Given the description of an element on the screen output the (x, y) to click on. 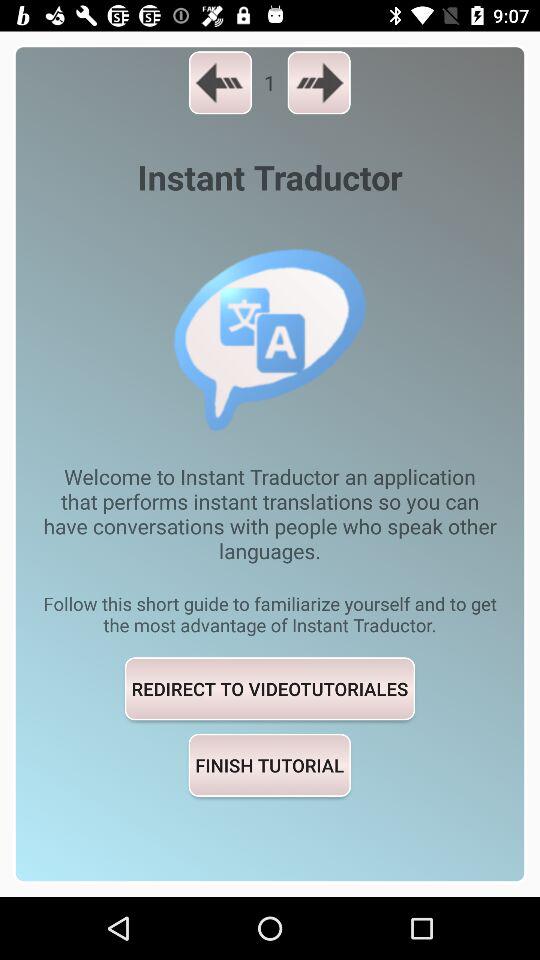
jump to the finish tutorial (269, 764)
